Given the description of an element on the screen output the (x, y) to click on. 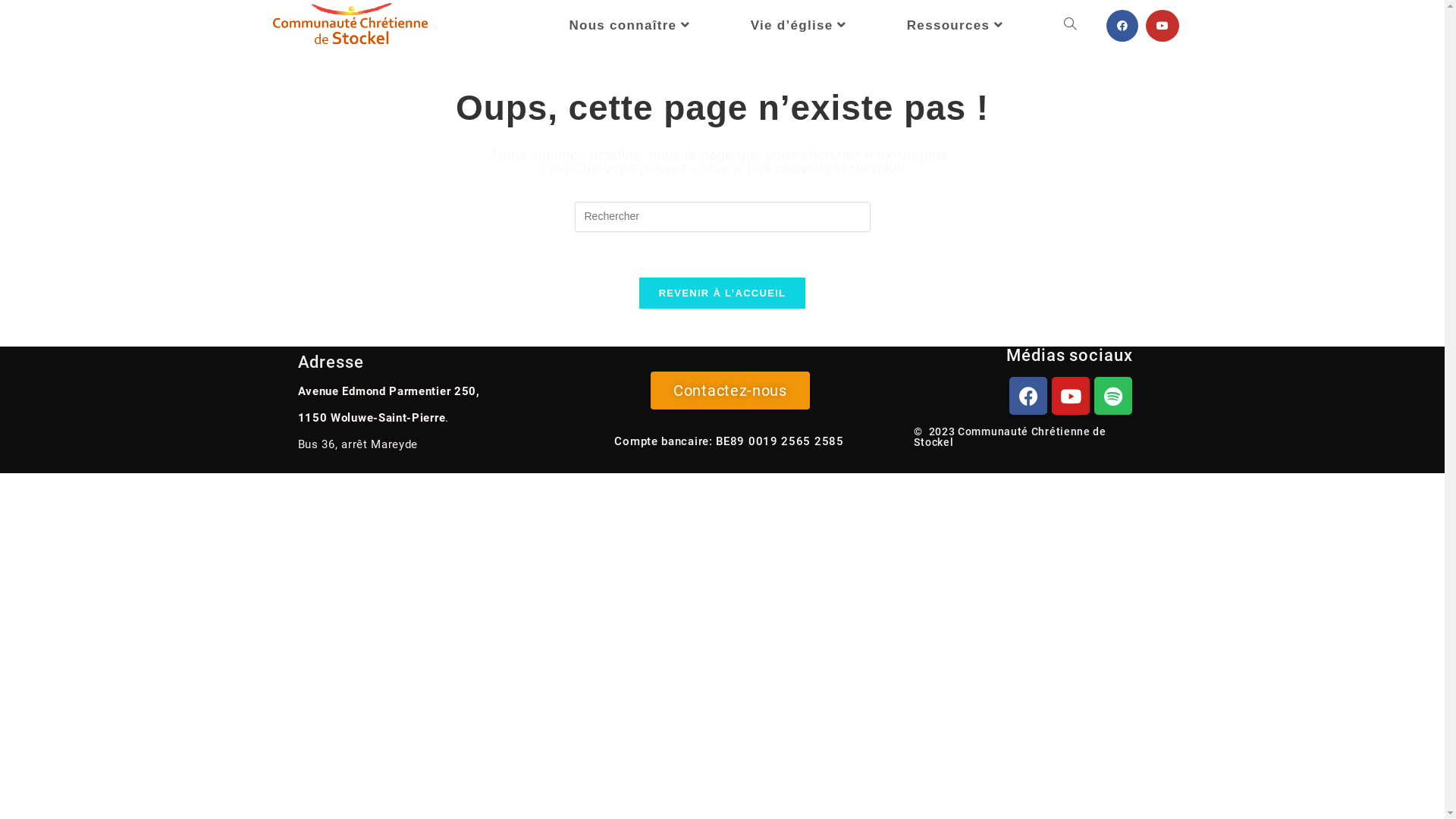
Contactez-nous Element type: text (729, 390)
Ressources Element type: text (956, 25)
